Given the description of an element on the screen output the (x, y) to click on. 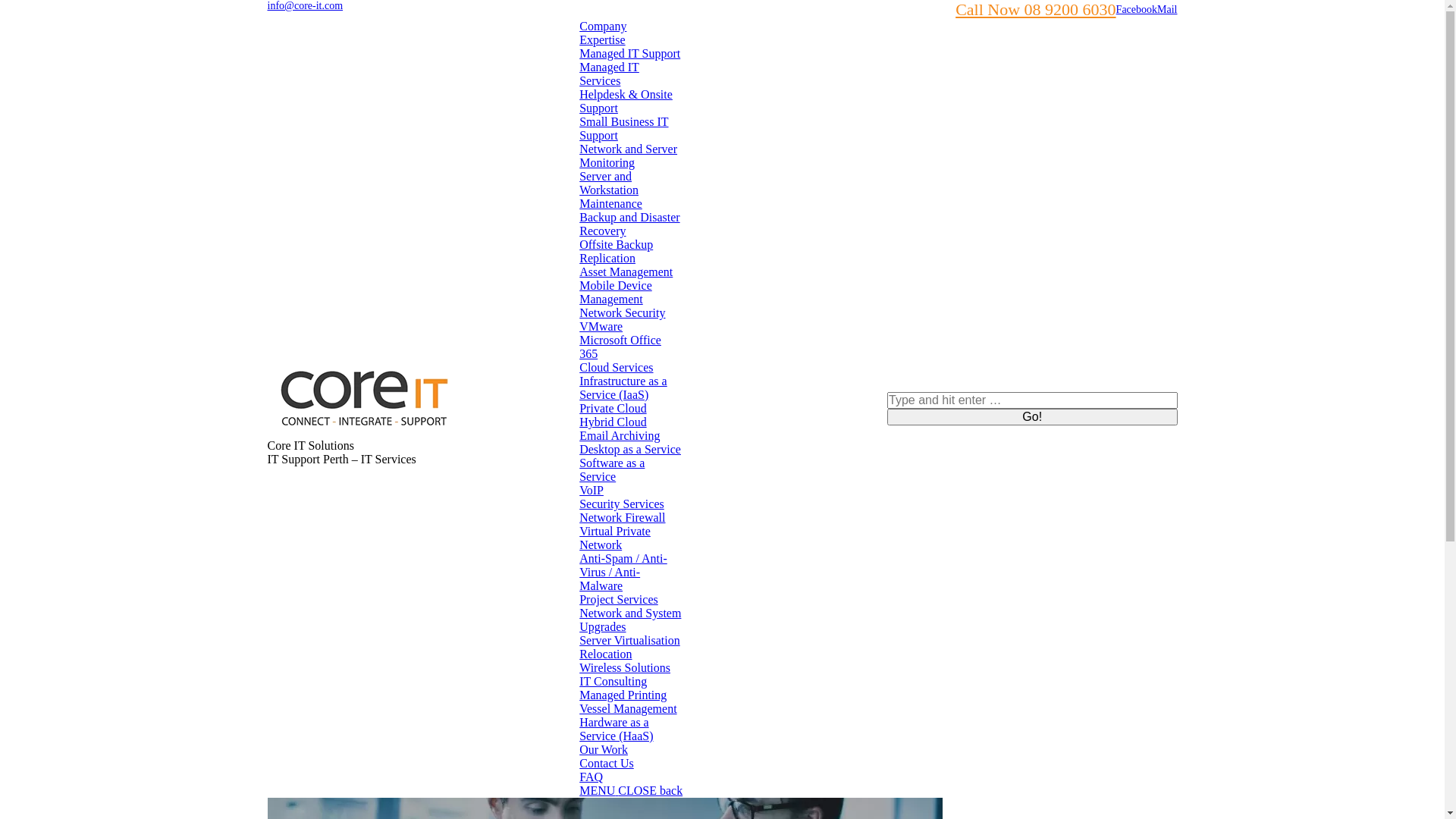
Infrastructure as a Service (IaaS) Element type: text (623, 387)
Desktop as a Service Element type: text (629, 448)
Managed Printing Element type: text (622, 694)
MENU CLOSE back Element type: text (630, 790)
VoIP Element type: text (591, 489)
Hardware as a Service (HaaS) Element type: text (615, 728)
Contact Us Element type: text (606, 762)
Project Services Element type: text (618, 599)
Backup and Disaster Recovery Element type: text (629, 223)
Mail Element type: text (1166, 9)
VMware Element type: text (600, 326)
Network Firewall Element type: text (622, 517)
Call Now 08 9200 6030 Element type: text (1035, 9)
info@core-it.com Element type: text (304, 5)
Server Virtualisation Element type: text (629, 639)
Wireless Solutions Element type: text (624, 667)
Relocation Element type: text (605, 653)
Cloud Services Element type: text (615, 366)
Email Archiving Element type: text (619, 435)
Hybrid Cloud Element type: text (612, 421)
Go! Element type: text (1031, 416)
Helpdesk & Onsite Support Element type: text (625, 100)
Facebook Element type: text (1136, 9)
Network Security Element type: text (622, 312)
IT Consulting Element type: text (612, 680)
Private Cloud Element type: text (612, 407)
Security Services Element type: text (621, 503)
Vessel Management Element type: text (627, 708)
Microsoft Office 365 Element type: text (620, 346)
Virtual Private Network Element type: text (614, 537)
Network and Server Monitoring Element type: text (628, 155)
Managed IT Services Element type: text (609, 73)
Our Work Element type: text (603, 749)
FAQ Element type: text (590, 776)
Expertise Element type: text (601, 39)
Small Business IT Support Element type: text (623, 128)
Offsite Backup Replication Element type: text (615, 251)
Company Element type: text (602, 25)
Anti-Spam / Anti-Virus / Anti-Malware Element type: text (623, 572)
Asset Management Element type: text (625, 271)
Network and System Upgrades Element type: text (629, 619)
Mobile Device Management Element type: text (615, 292)
Software as a Service Element type: text (611, 469)
Managed IT Support Element type: text (629, 53)
Server and Workstation Maintenance Element type: text (610, 189)
